Given the description of an element on the screen output the (x, y) to click on. 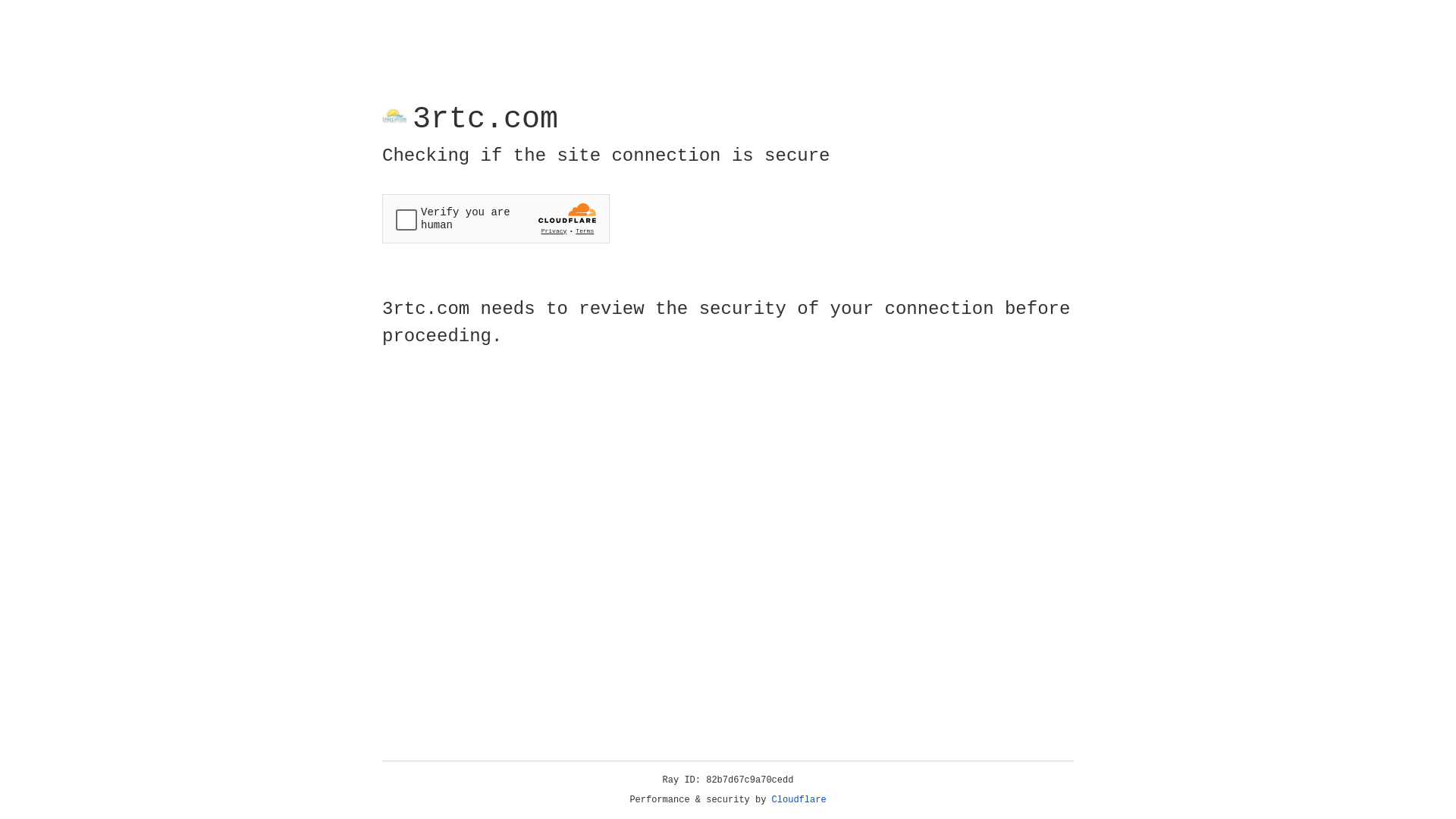
Widget containing a Cloudflare security challenge Element type: hover (495, 218)
Cloudflare Element type: text (798, 799)
